Given the description of an element on the screen output the (x, y) to click on. 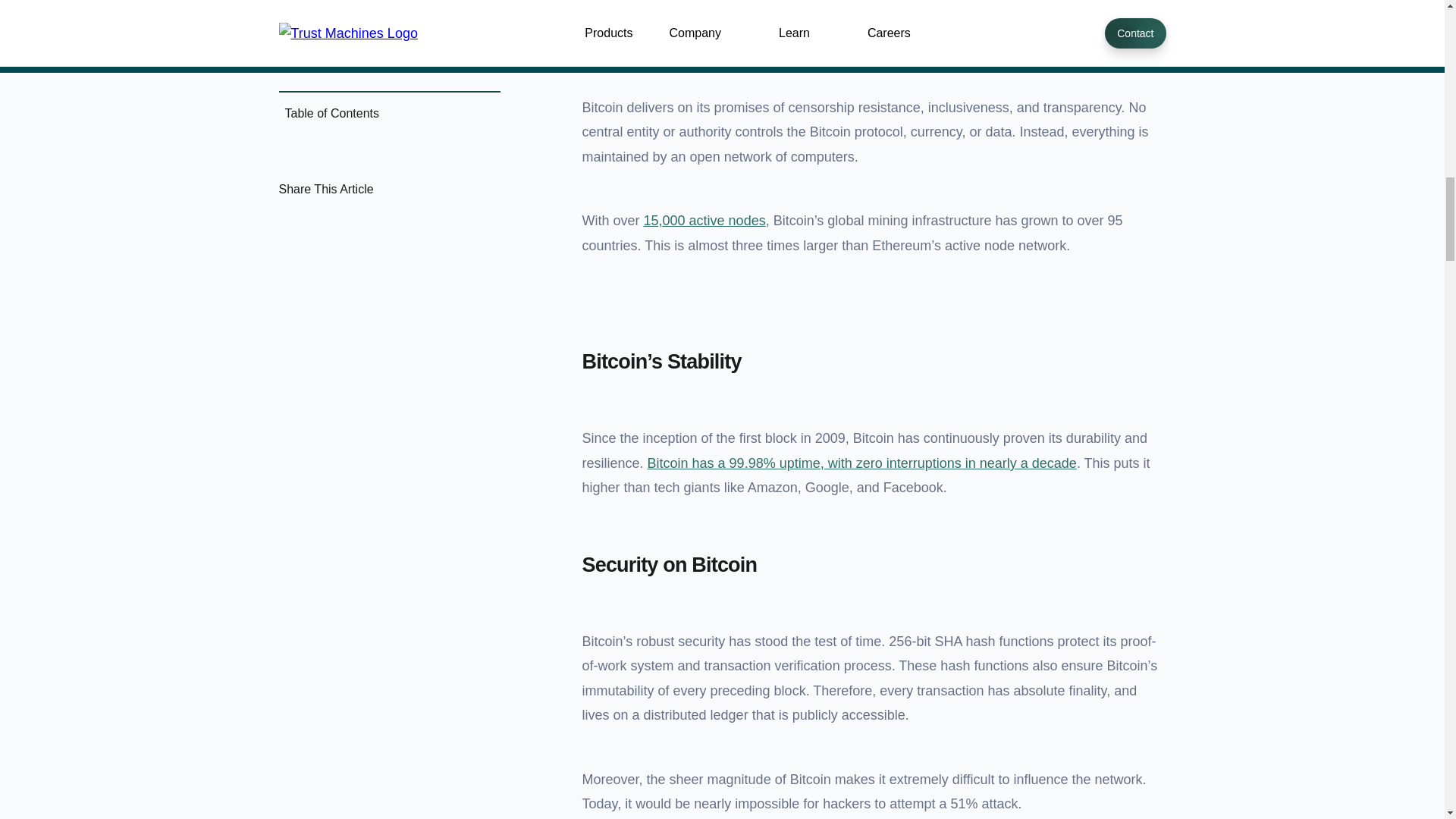
15,000 active nodes (704, 220)
